Given the description of an element on the screen output the (x, y) to click on. 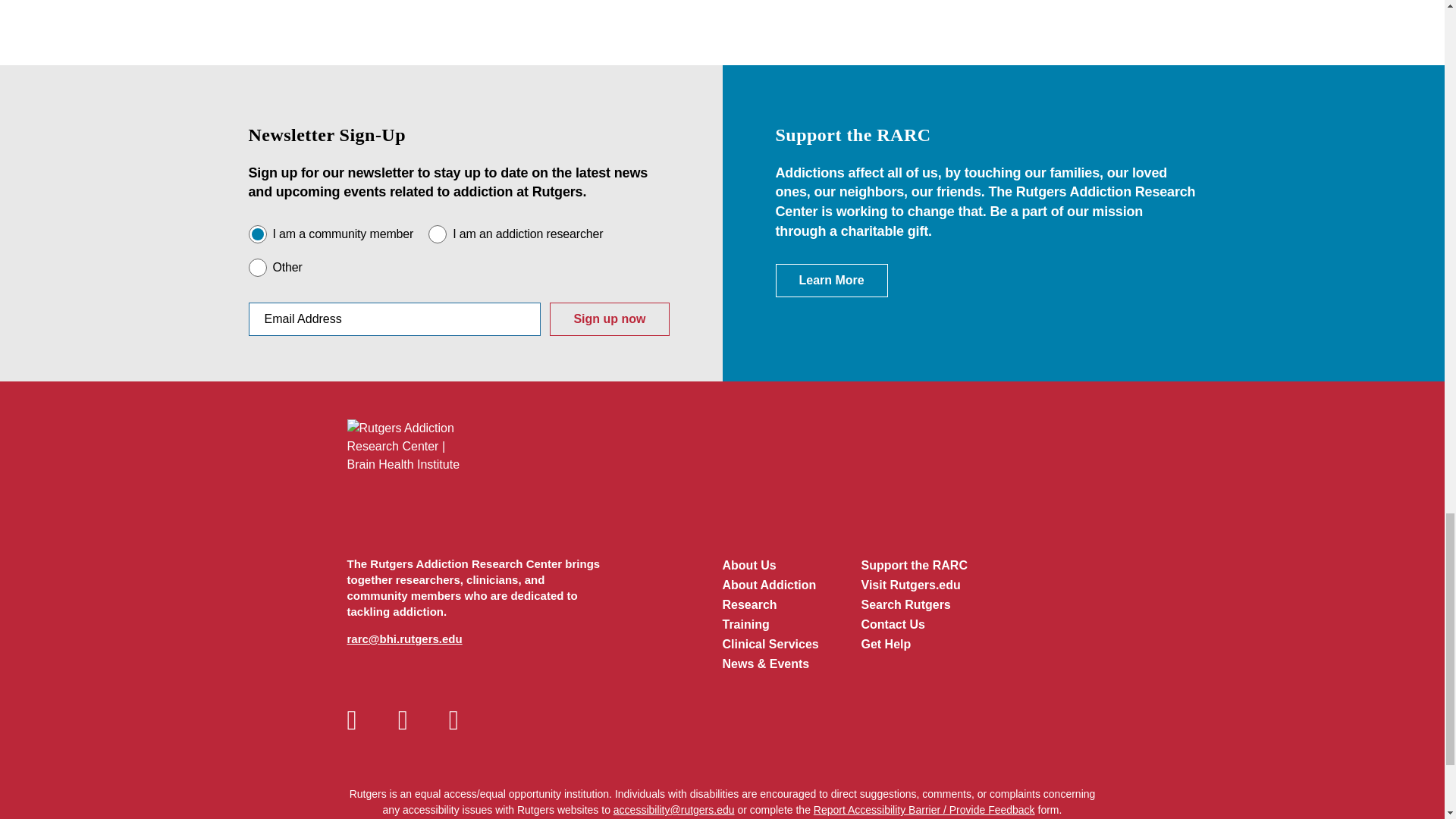
Sign up now (609, 318)
Other (257, 267)
I am a community member (257, 234)
I am an addiction researcher (437, 234)
